Given the description of an element on the screen output the (x, y) to click on. 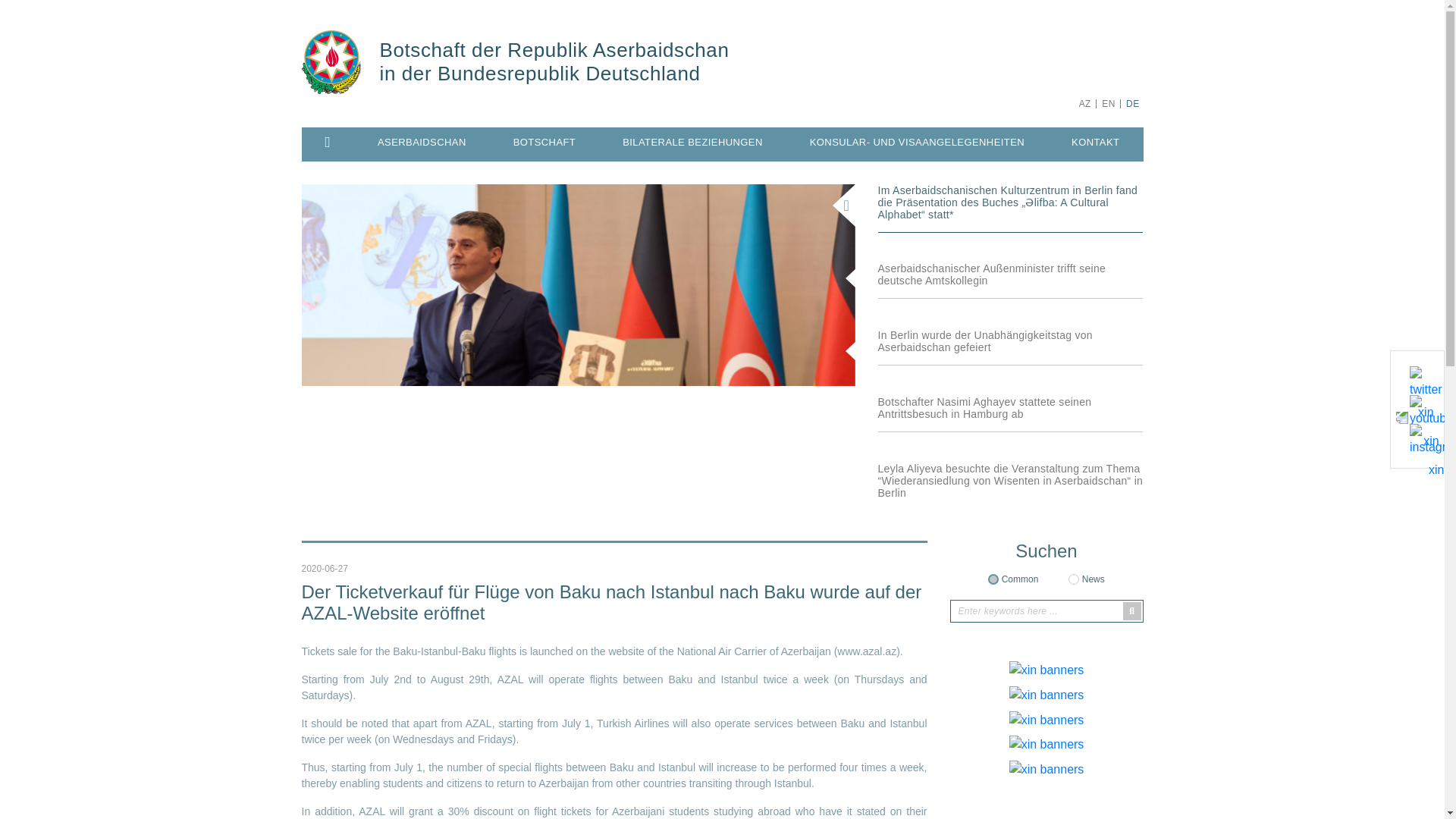
AZ (1084, 103)
DE (1132, 103)
KONTAKT (1095, 142)
EN (1107, 103)
ASERBAIDSCHAN (421, 142)
BOTSCHAFT (544, 142)
KONSULAR- UND VISAANGELEGENHEITEN (917, 142)
BILATERALE BEZIEHUNGEN (692, 142)
